Given the description of an element on the screen output the (x, y) to click on. 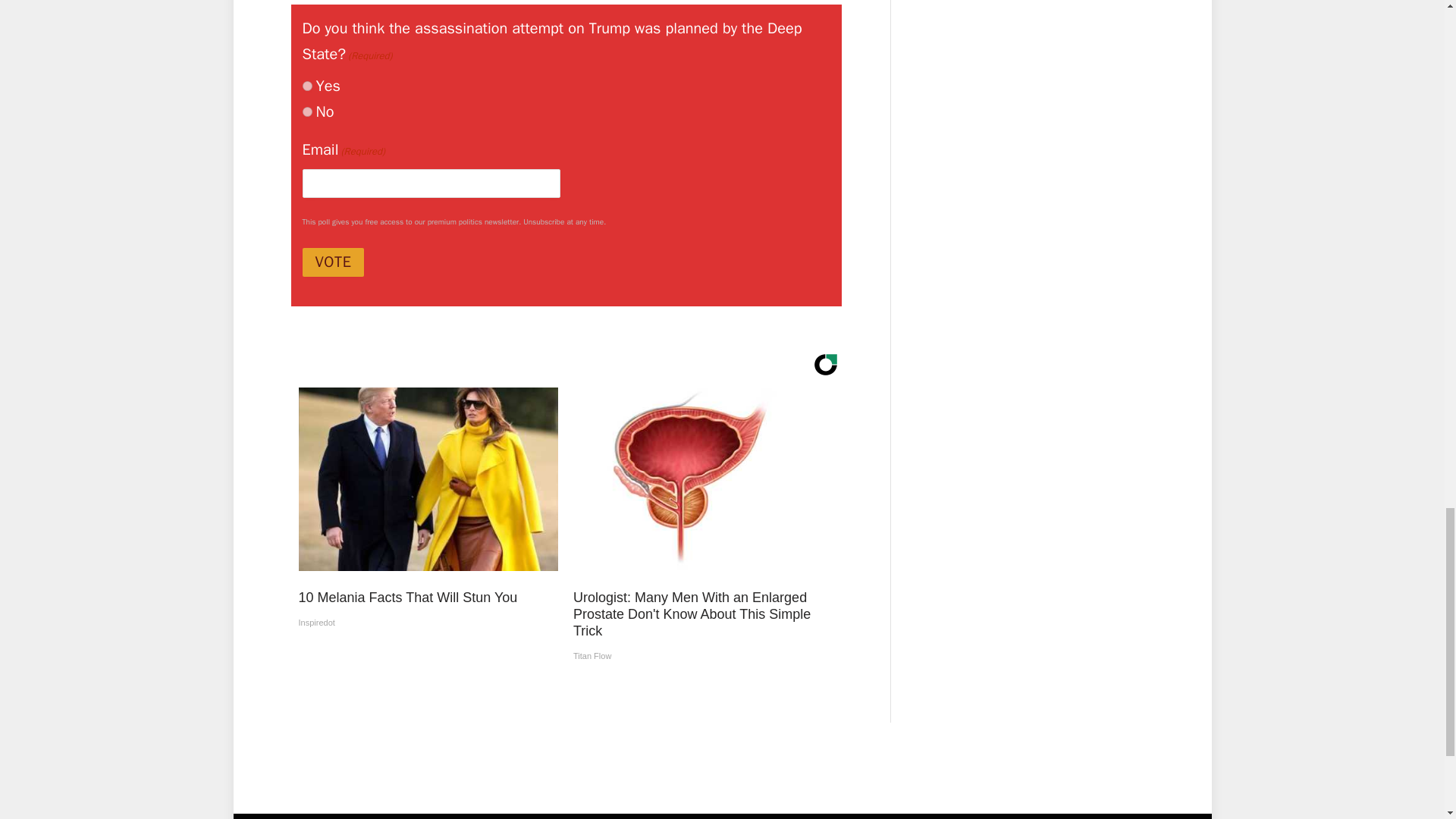
VOTE (332, 262)
VOTE (332, 262)
gpoll1b5b3d8f6 (306, 85)
gpoll1b2a53ce5 (306, 112)
